Given the description of an element on the screen output the (x, y) to click on. 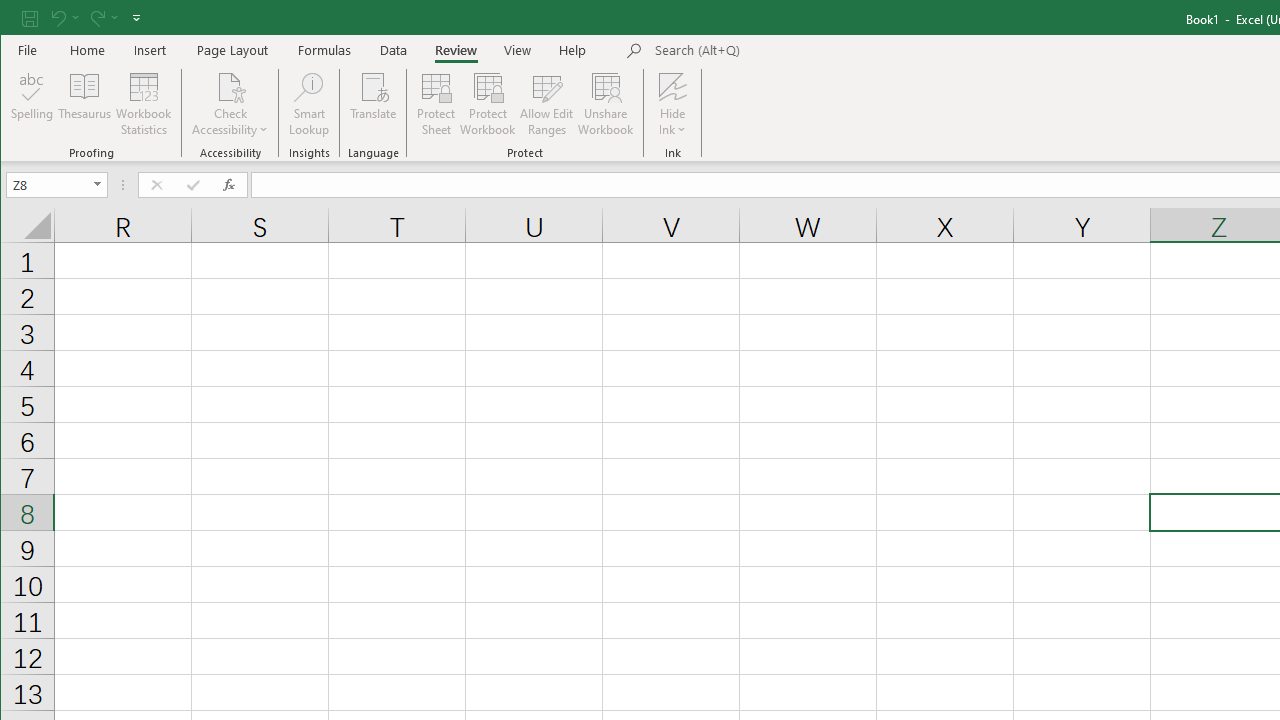
Allow Edit Ranges (547, 104)
Unshare Workbook (606, 104)
Workbook Statistics (143, 104)
